Given the description of an element on the screen output the (x, y) to click on. 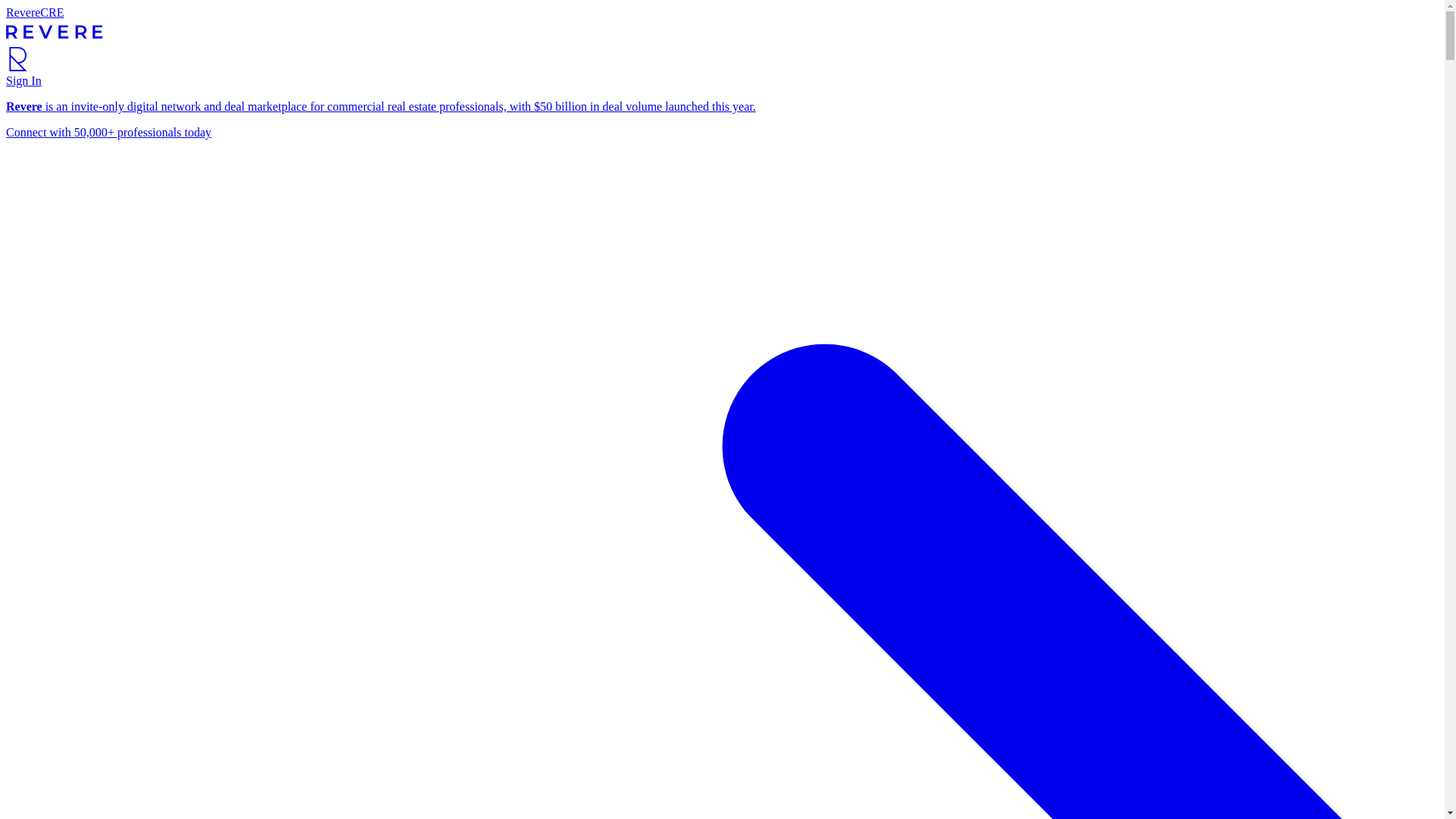
Sign In (23, 80)
